Given the description of an element on the screen output the (x, y) to click on. 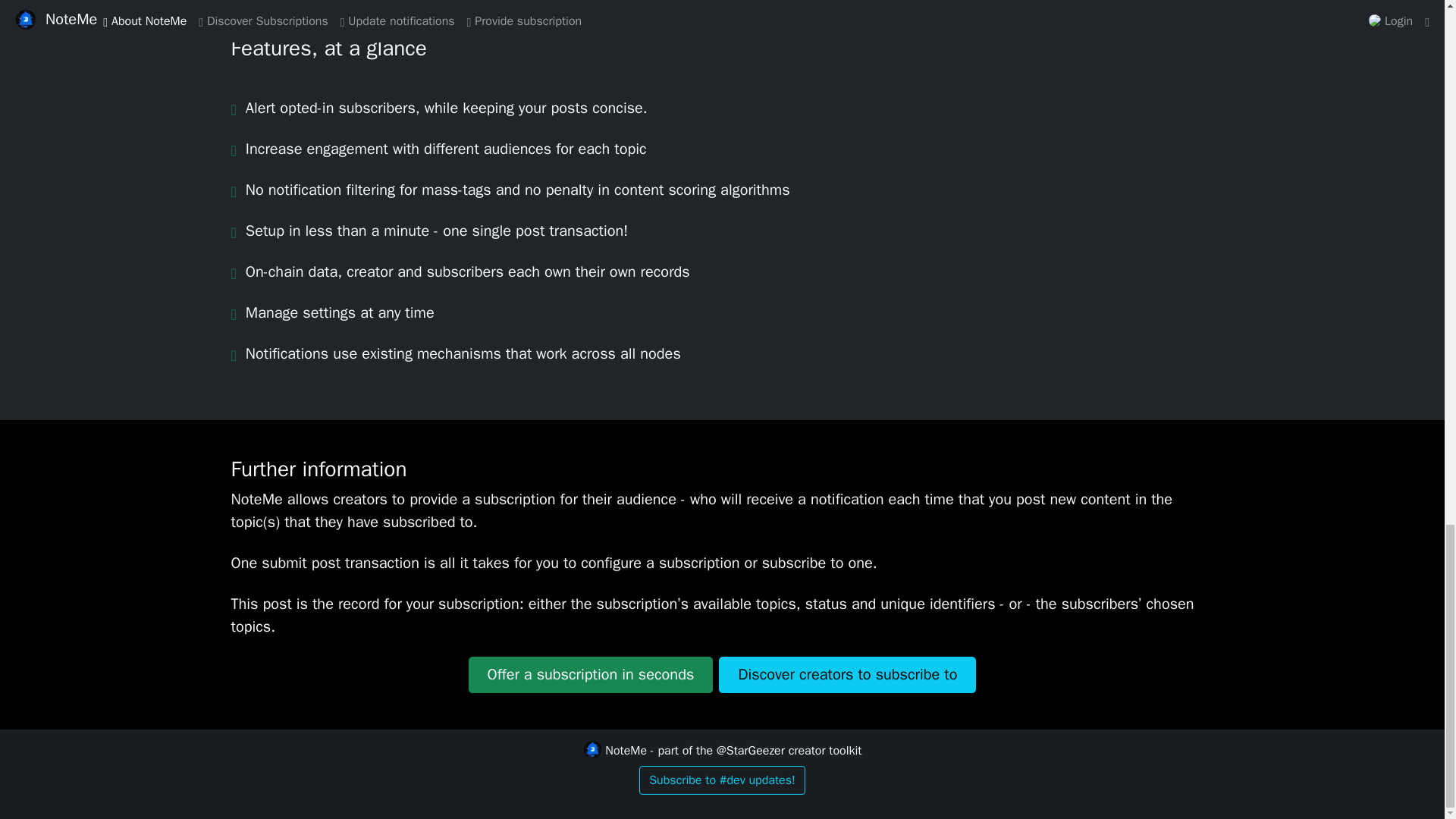
Discover creators to subscribe to (847, 674)
Offer a subscription in seconds (590, 674)
